Given the description of an element on the screen output the (x, y) to click on. 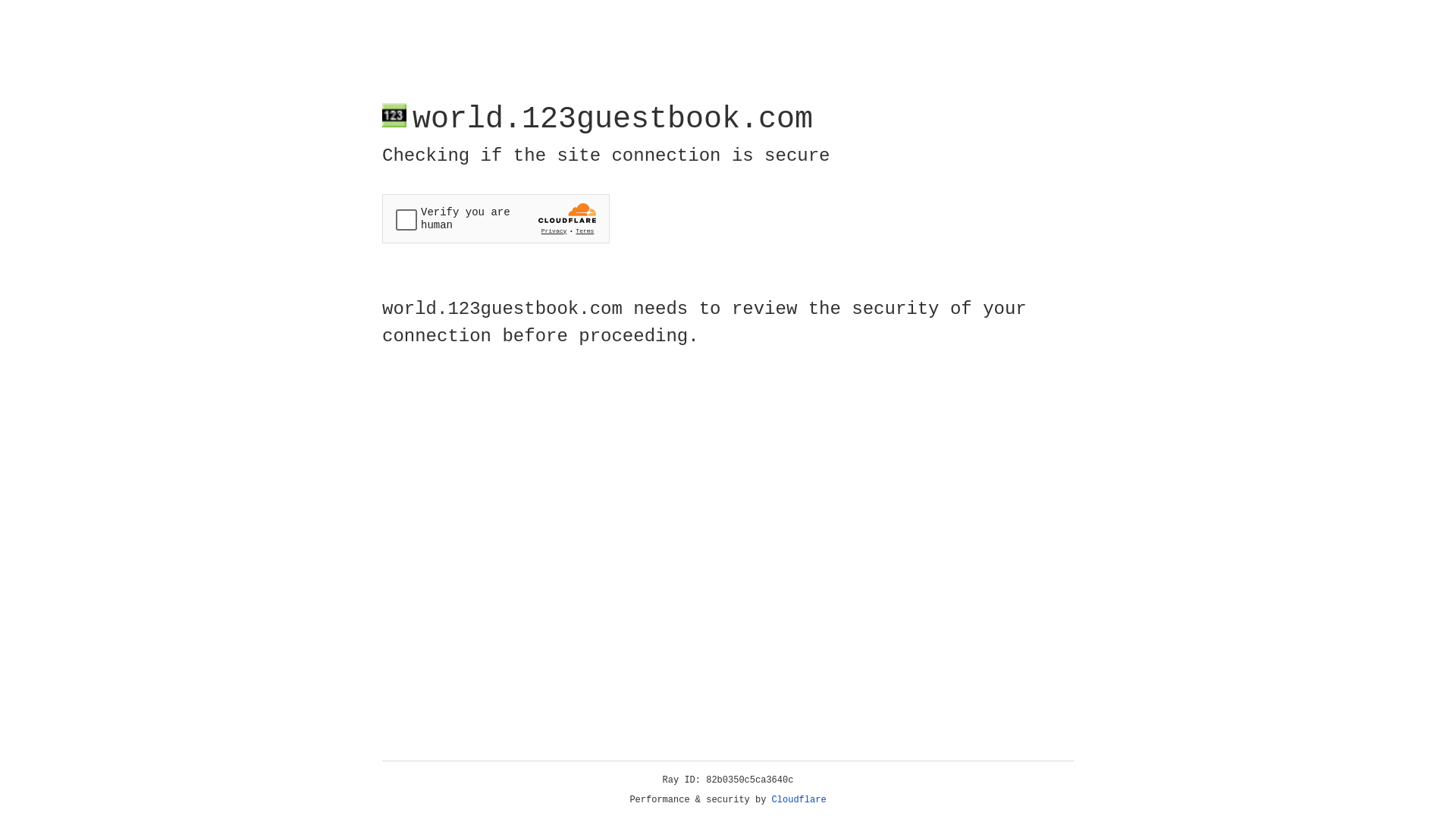
Cloudflare Element type: text (798, 799)
Widget containing a Cloudflare security challenge Element type: hover (495, 218)
